Given the description of an element on the screen output the (x, y) to click on. 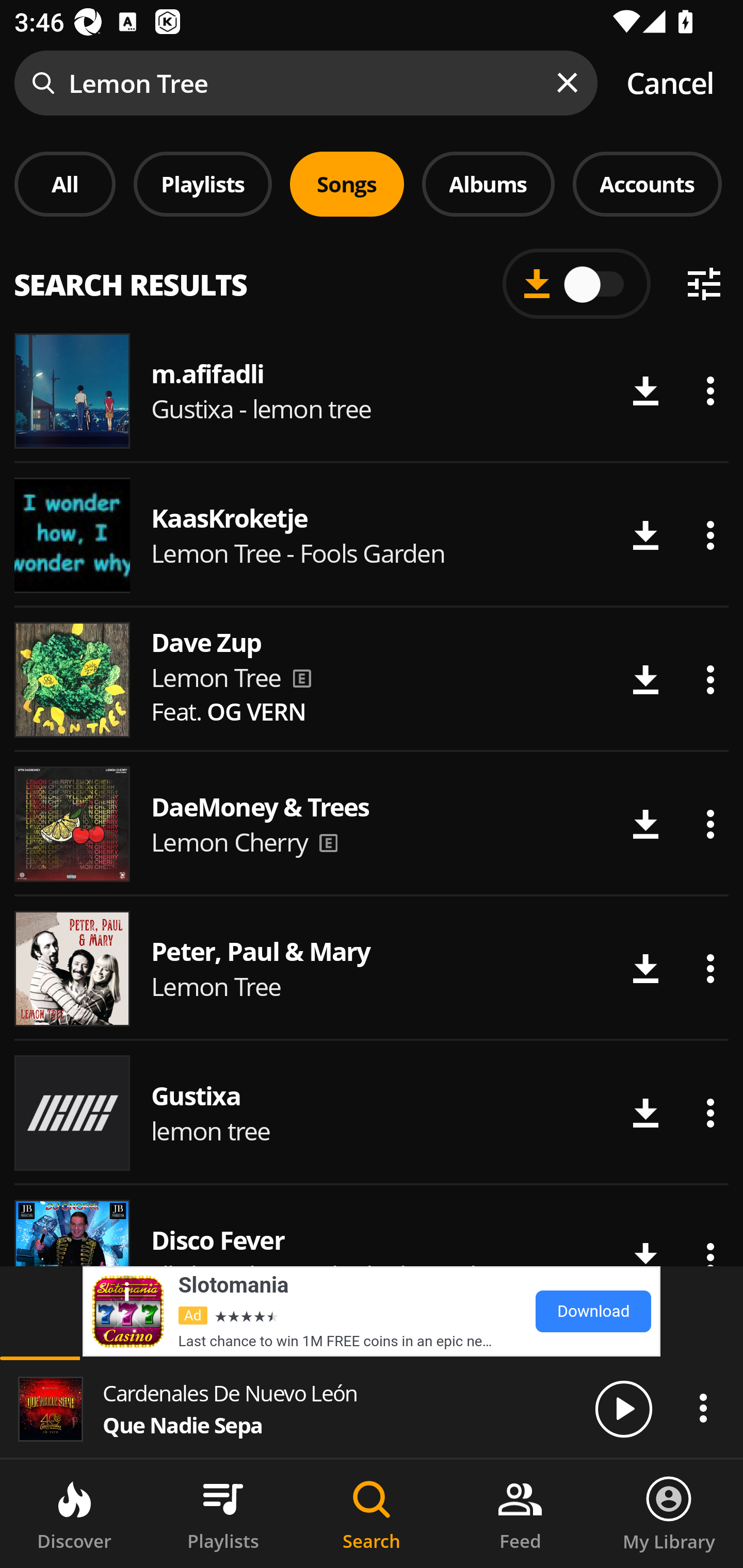
Lemon Tree Cancel (371, 82)
Cancel (670, 82)
All (64, 184)
Playlists (202, 184)
Songs (346, 184)
Albums (488, 184)
Accounts (647, 184)
All Country Afrosounds Pop Caribbean (371, 275)
Pop (529, 288)
Download (644, 391)
Actions (710, 391)
Download (644, 535)
Actions (710, 535)
Download (644, 679)
Actions (710, 679)
Download (644, 823)
Actions (710, 823)
Download (644, 968)
Actions (710, 968)
Song artwork Gustixa lemon tree Download Actions (371, 1113)
Download (644, 1113)
Actions (710, 1113)
Actions (703, 1407)
Play/Pause (623, 1408)
Discover (74, 1513)
Playlists (222, 1513)
Search (371, 1513)
Feed (519, 1513)
My Library (668, 1513)
